Given the description of an element on the screen output the (x, y) to click on. 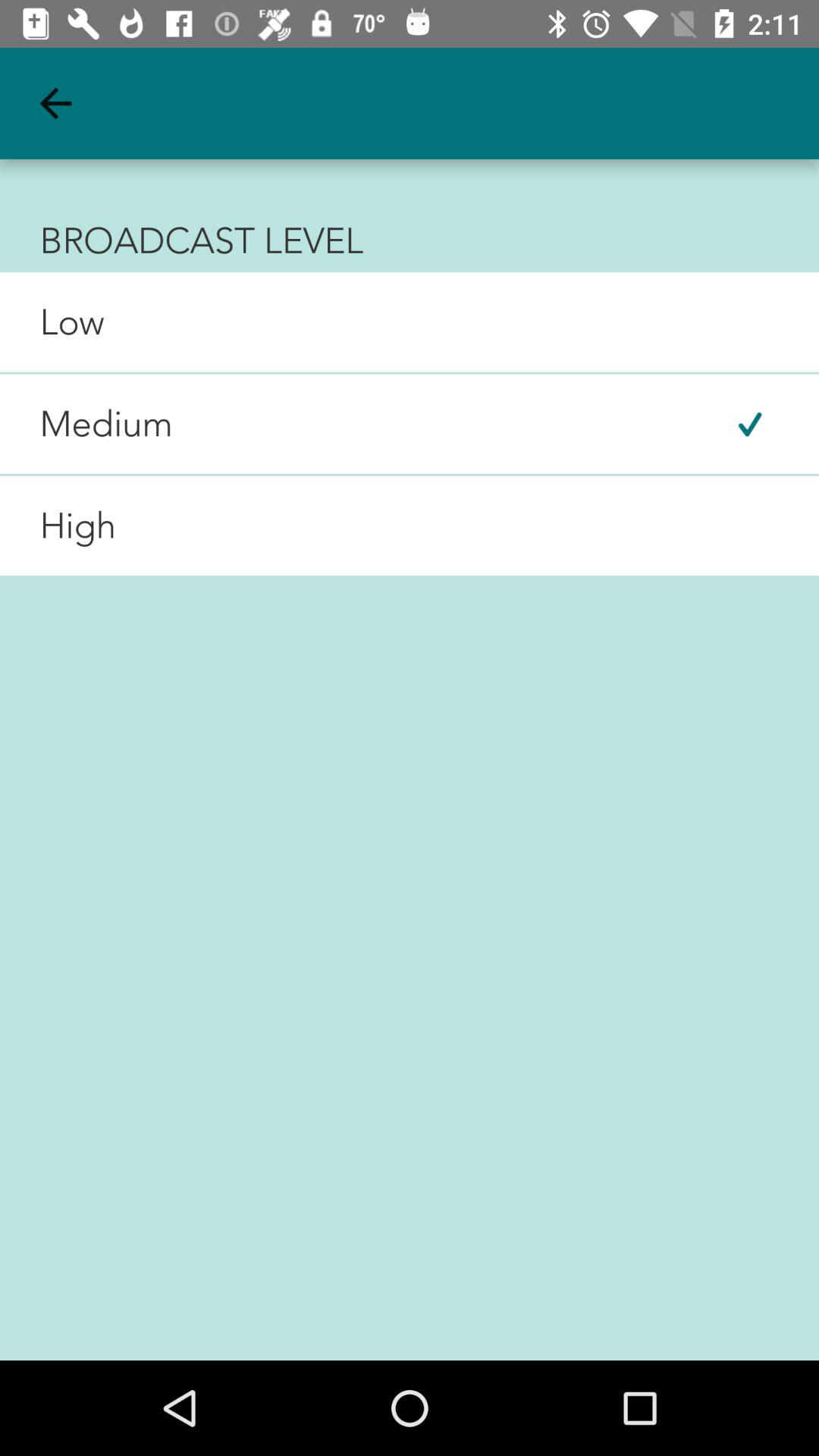
launch the icon above the high icon (86, 423)
